Given the description of an element on the screen output the (x, y) to click on. 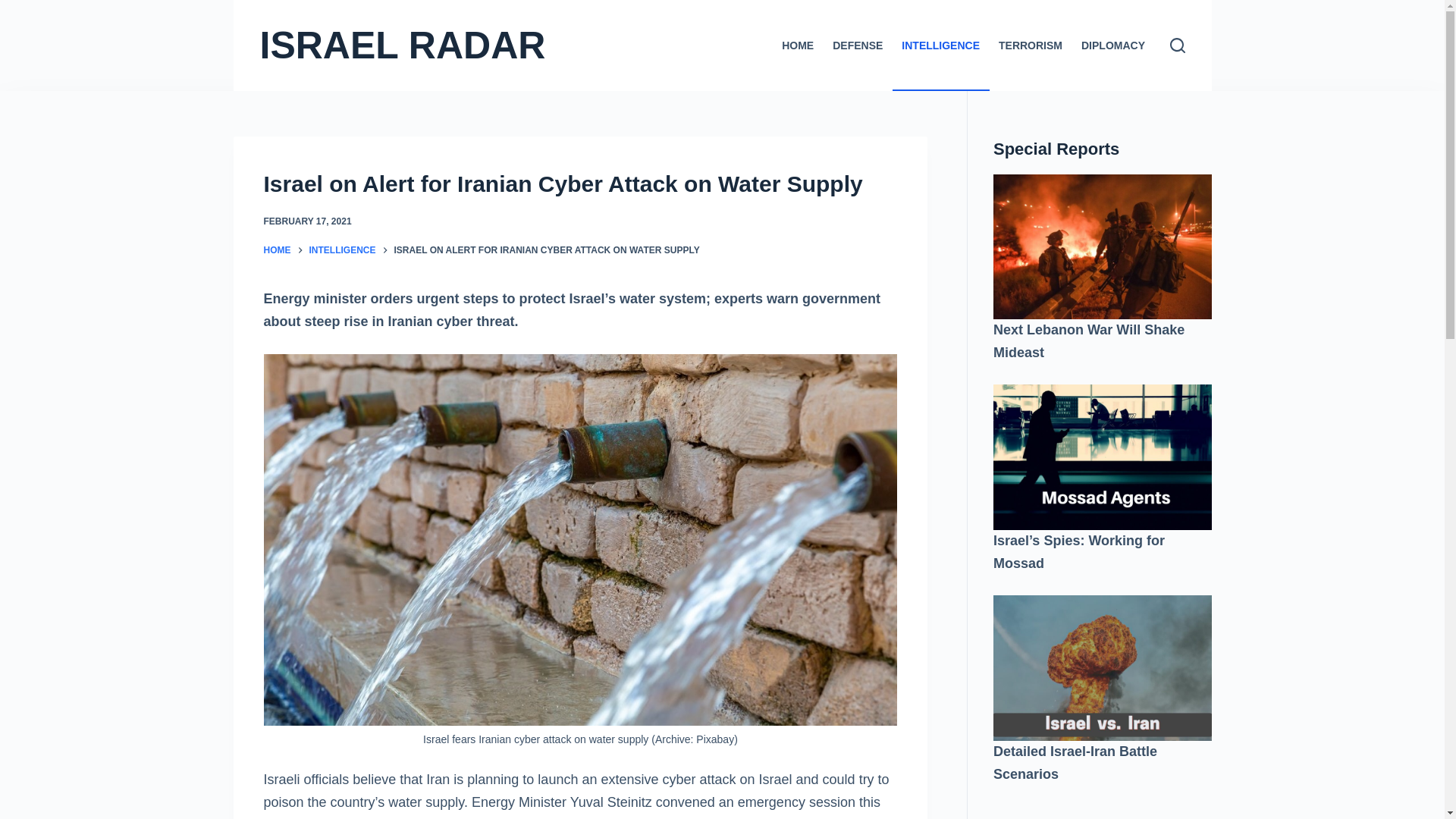
INTELLIGENCE (941, 45)
ISRAEL RADAR (401, 45)
TERRORISM (1029, 45)
HOME (277, 250)
Skip to content (15, 7)
DIPLOMACY (1112, 45)
Israel on Alert for Iranian Cyber Attack on Water Supply (580, 183)
Detailed Israel-Iran Battle Scenarios (1074, 762)
reported (605, 818)
INTELLIGENCE (341, 250)
Next Lebanon War Will Shake Mideast (1088, 341)
